Given the description of an element on the screen output the (x, y) to click on. 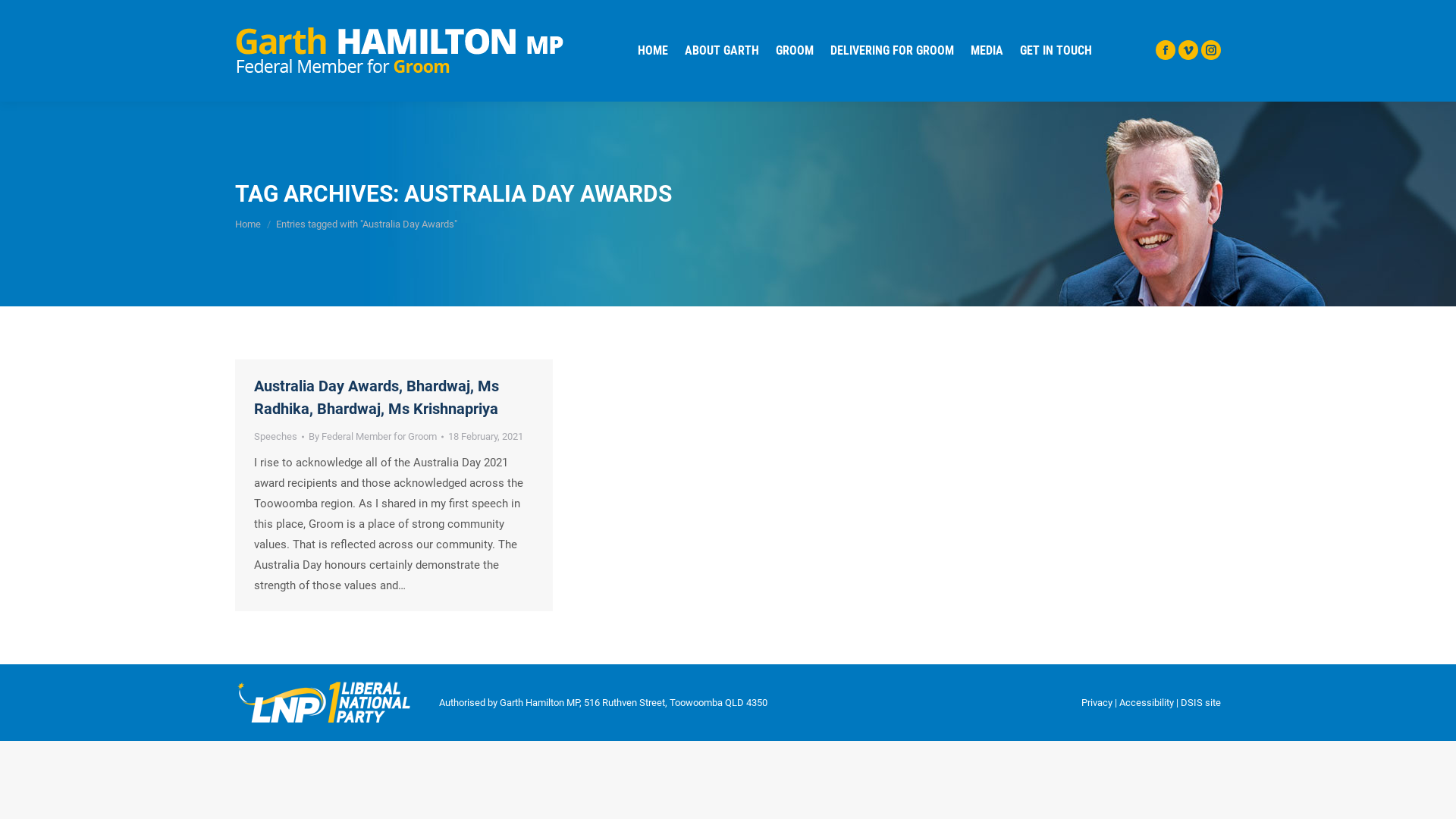
DELIVERING FOR GROOM Element type: text (891, 50)
MEDIA Element type: text (986, 50)
Vimeo page opens in new window Element type: text (1188, 49)
DSIS site Element type: text (1200, 702)
GET IN TOUCH Element type: text (1055, 50)
Home Element type: text (247, 223)
Privacy Element type: text (1096, 702)
Speeches Element type: text (275, 436)
ABOUT GARTH Element type: text (720, 50)
By Federal Member for Groom Element type: text (375, 436)
HOME Element type: text (651, 50)
Facebook page opens in new window Element type: text (1165, 49)
Accessibility Element type: text (1146, 702)
18 February, 2021 Element type: text (485, 436)
GROOM Element type: text (793, 50)
Instagram page opens in new window Element type: text (1210, 49)
